Given the description of an element on the screen output the (x, y) to click on. 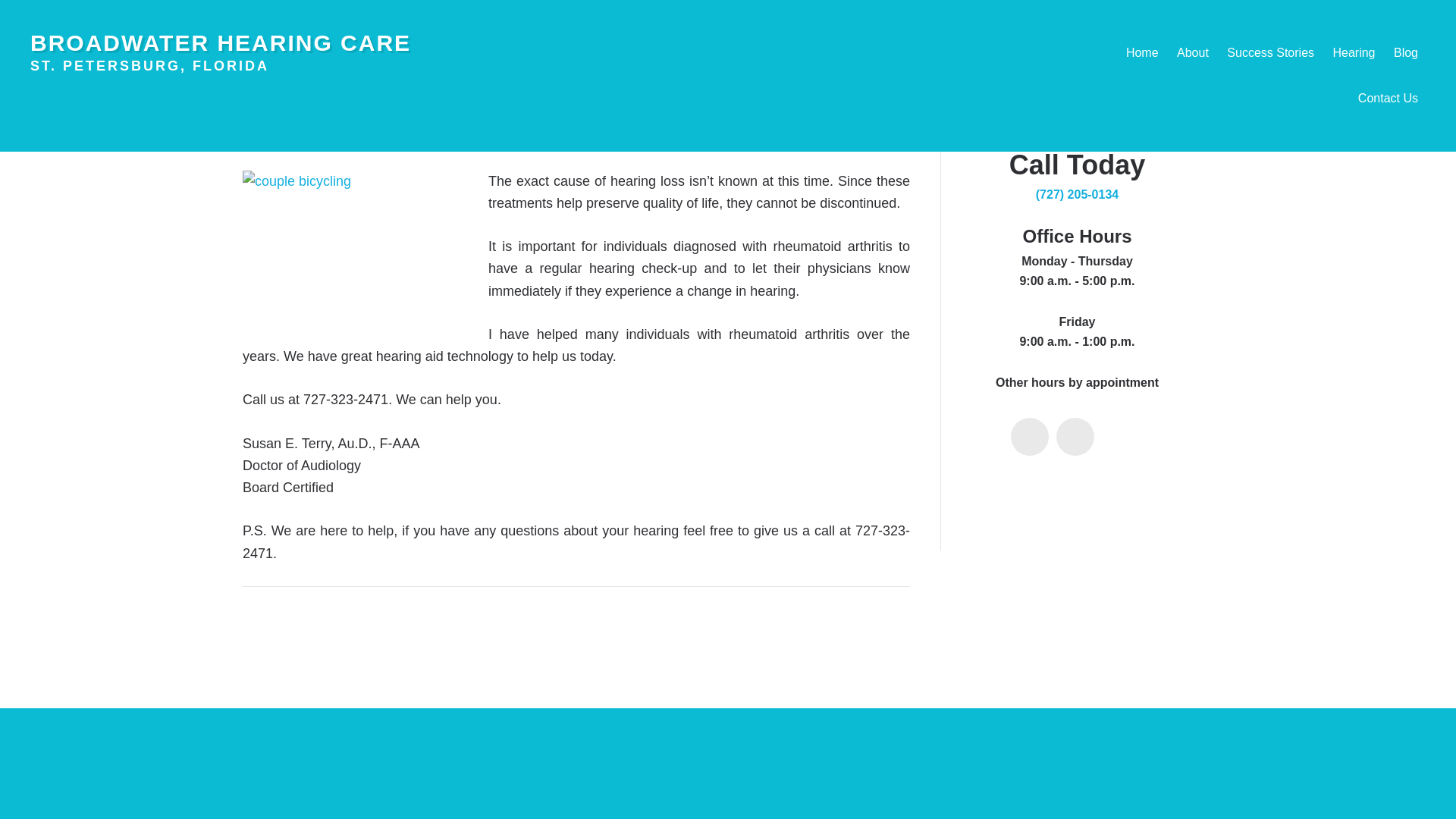
Hearing (1352, 53)
About (1192, 53)
Contact Us (1388, 98)
Success Stories (1271, 53)
BROADWATER HEARING CARE (220, 42)
Home (1142, 53)
